Given the description of an element on the screen output the (x, y) to click on. 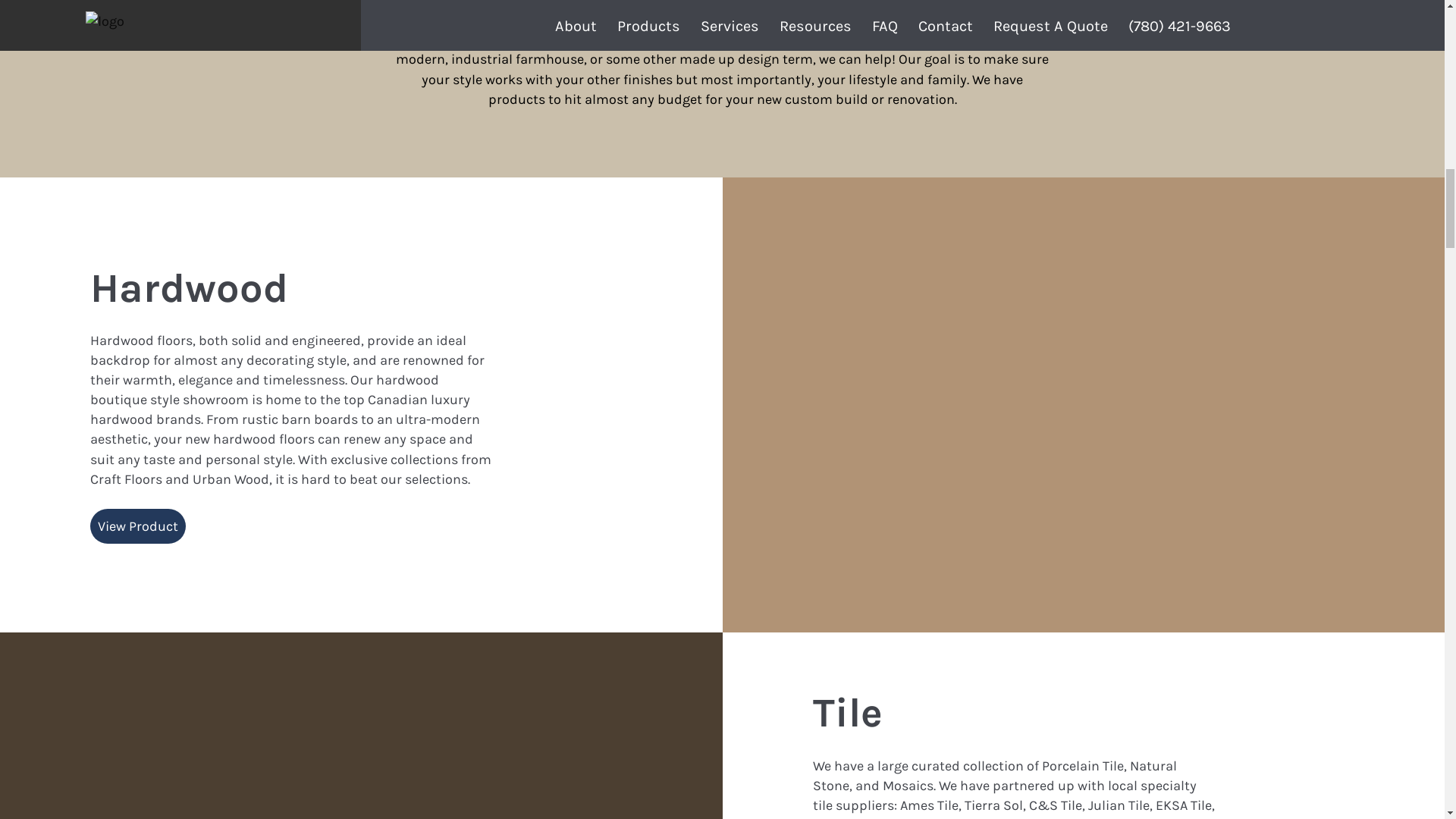
Hardwood (189, 287)
View Product (138, 525)
Tile (847, 712)
